Given the description of an element on the screen output the (x, y) to click on. 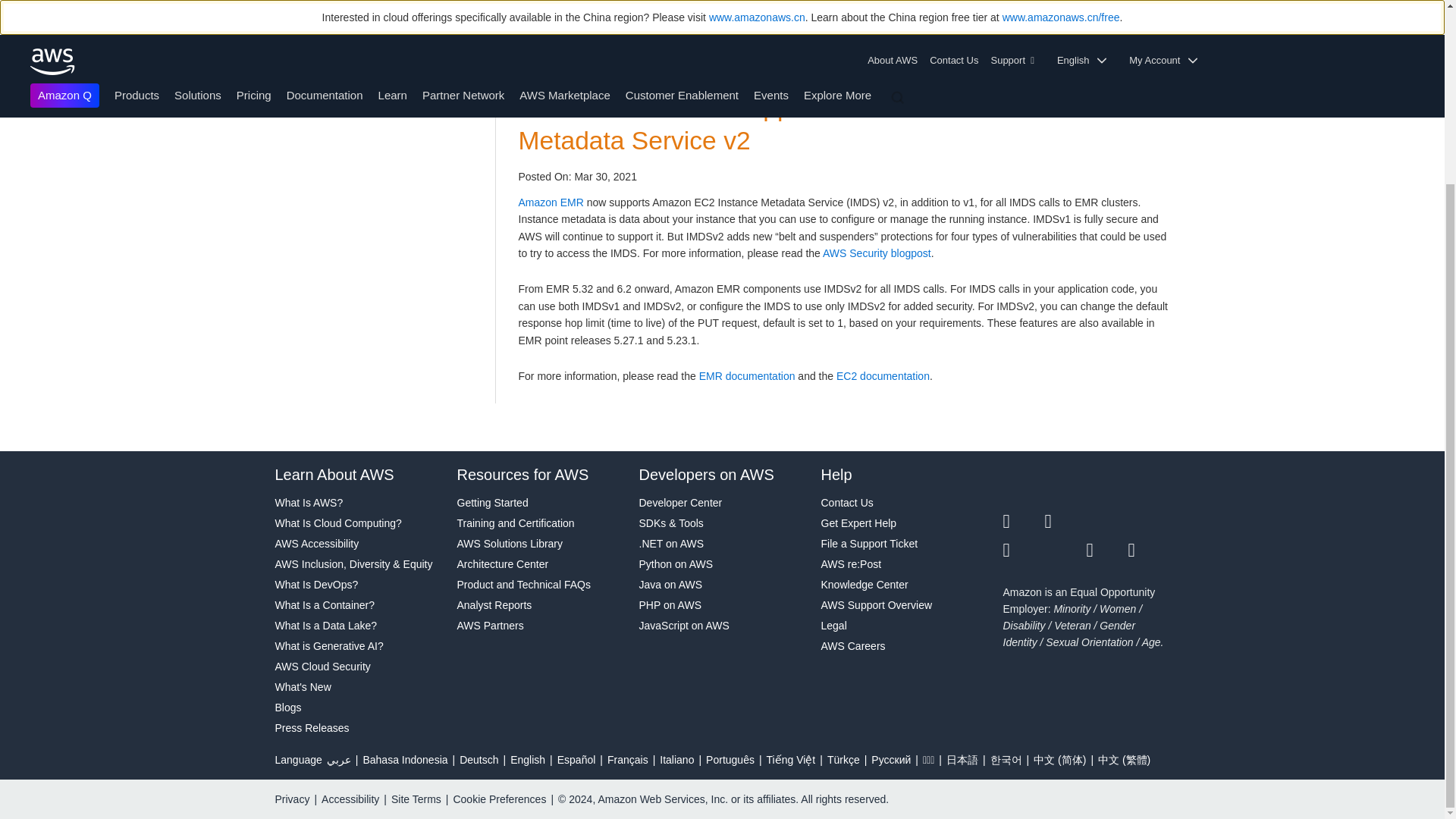
Twitter (1023, 521)
Twitch (1023, 550)
Instagram (1149, 521)
YouTube (1065, 550)
Email (1149, 550)
Facebook (1065, 521)
Podcast (1106, 550)
Linkedin (1106, 521)
Press Releases (358, 727)
